Given the description of an element on the screen output the (x, y) to click on. 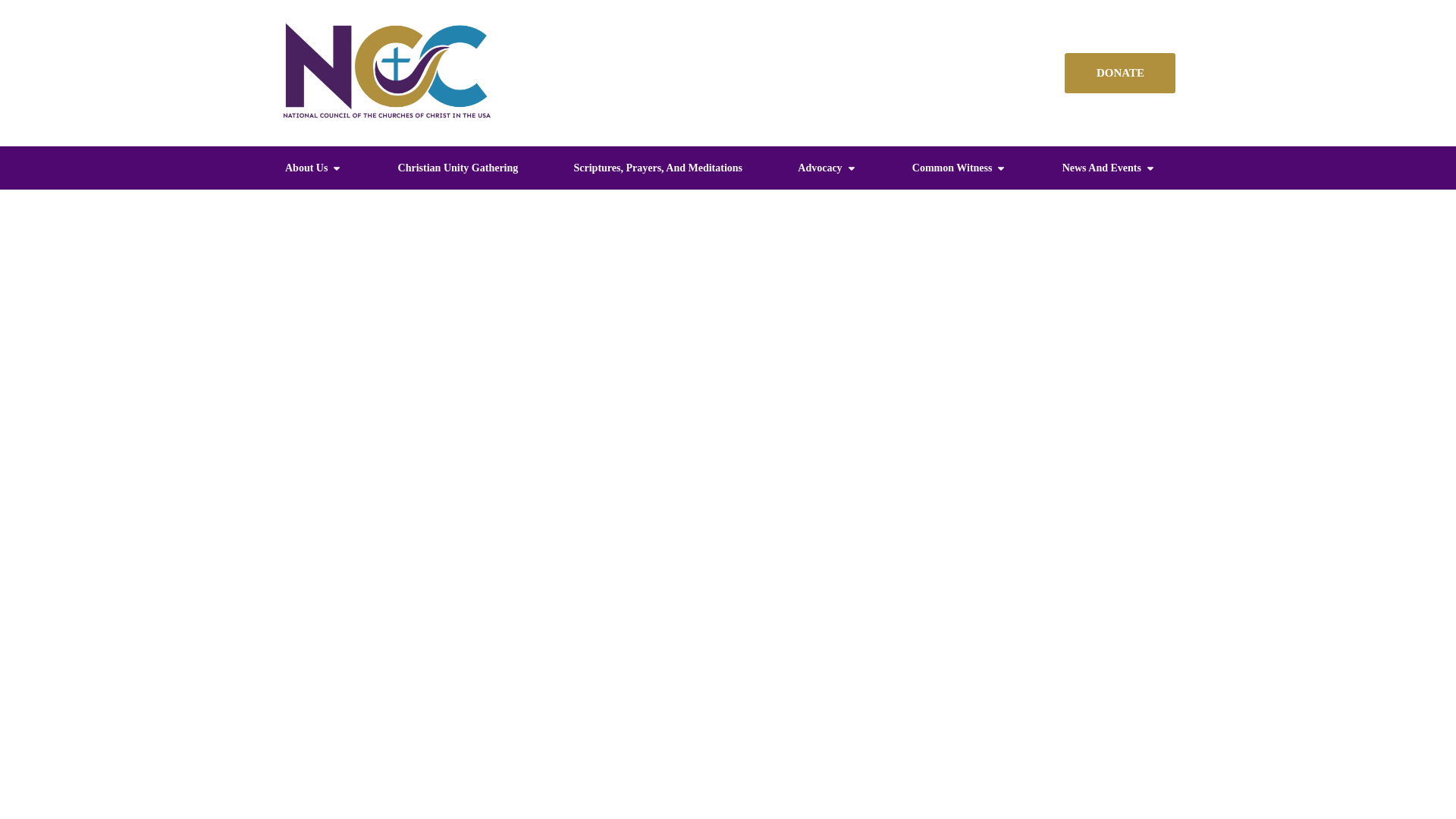
DONATE (1119, 73)
Scriptures, Prayers, And Meditations (657, 167)
About Us (306, 167)
Common Witness (952, 167)
Advocacy (819, 167)
Christian Unity Gathering (457, 167)
